Given the description of an element on the screen output the (x, y) to click on. 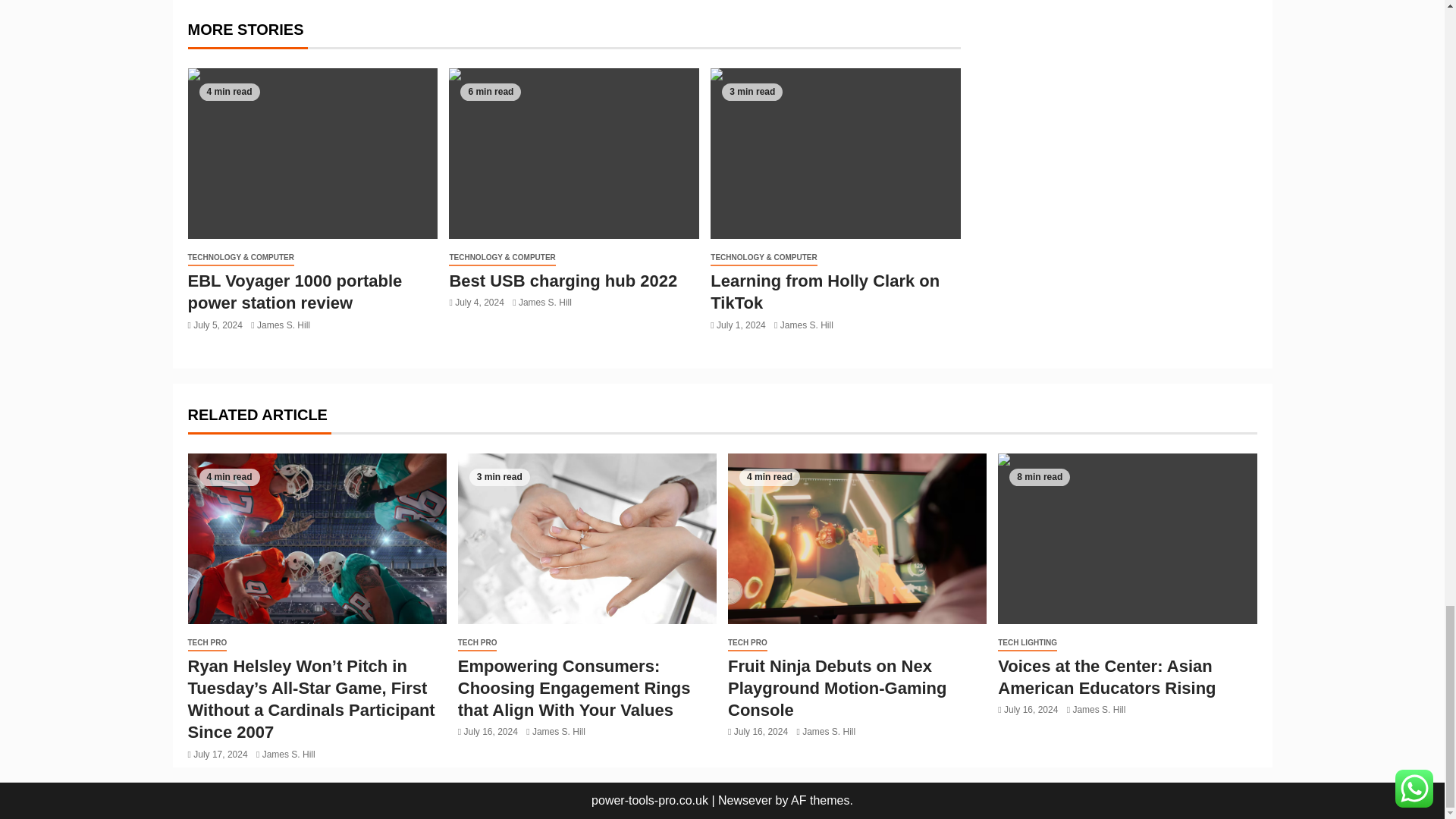
Best USB charging hub 2022 (573, 153)
Learning from Holly Clark on TikTok (835, 153)
EBL Voyager 1000 portable power station review (312, 153)
